Given the description of an element on the screen output the (x, y) to click on. 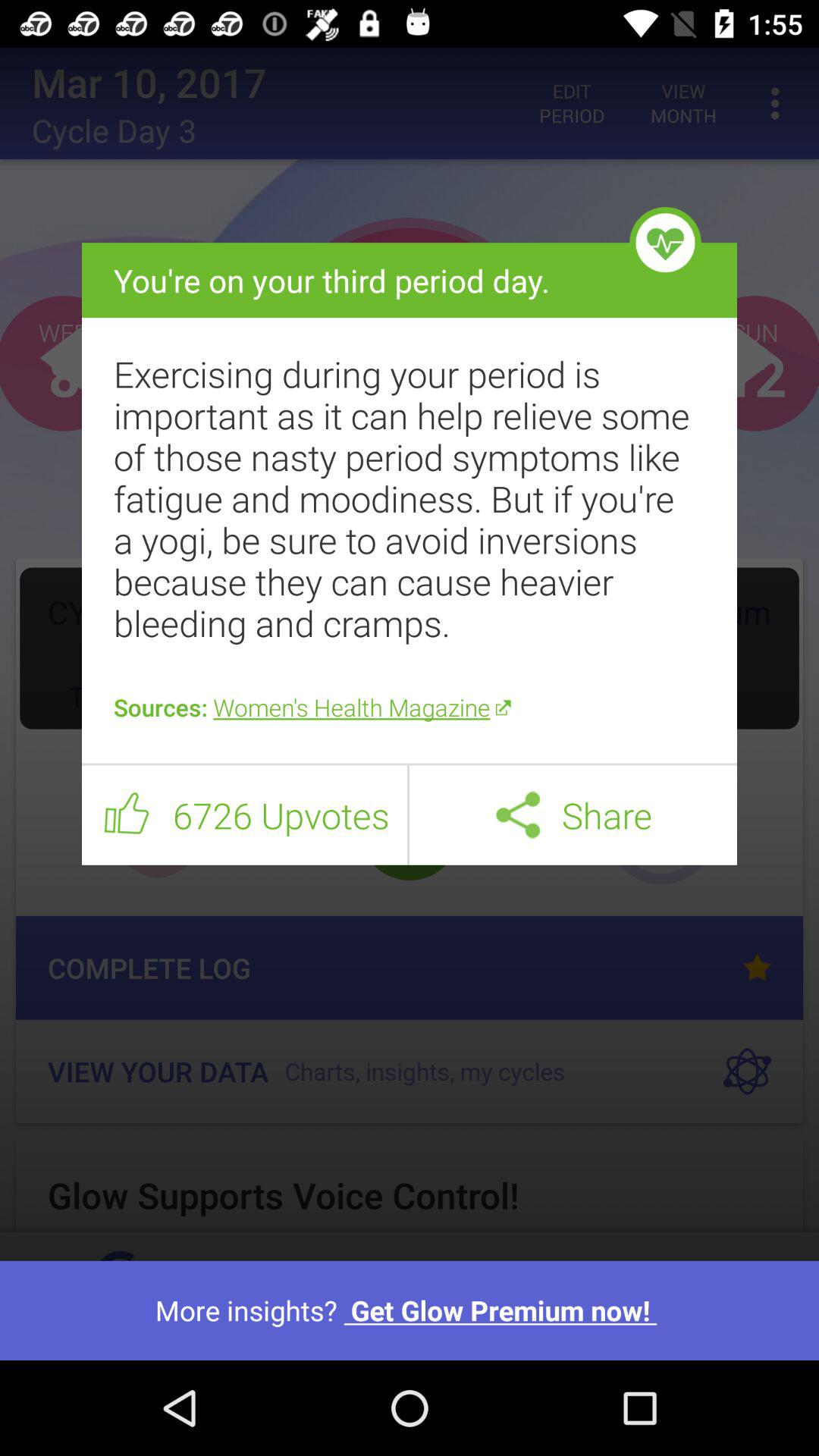
click the icon to the left of 6726 upvotes (126, 815)
